Given the description of an element on the screen output the (x, y) to click on. 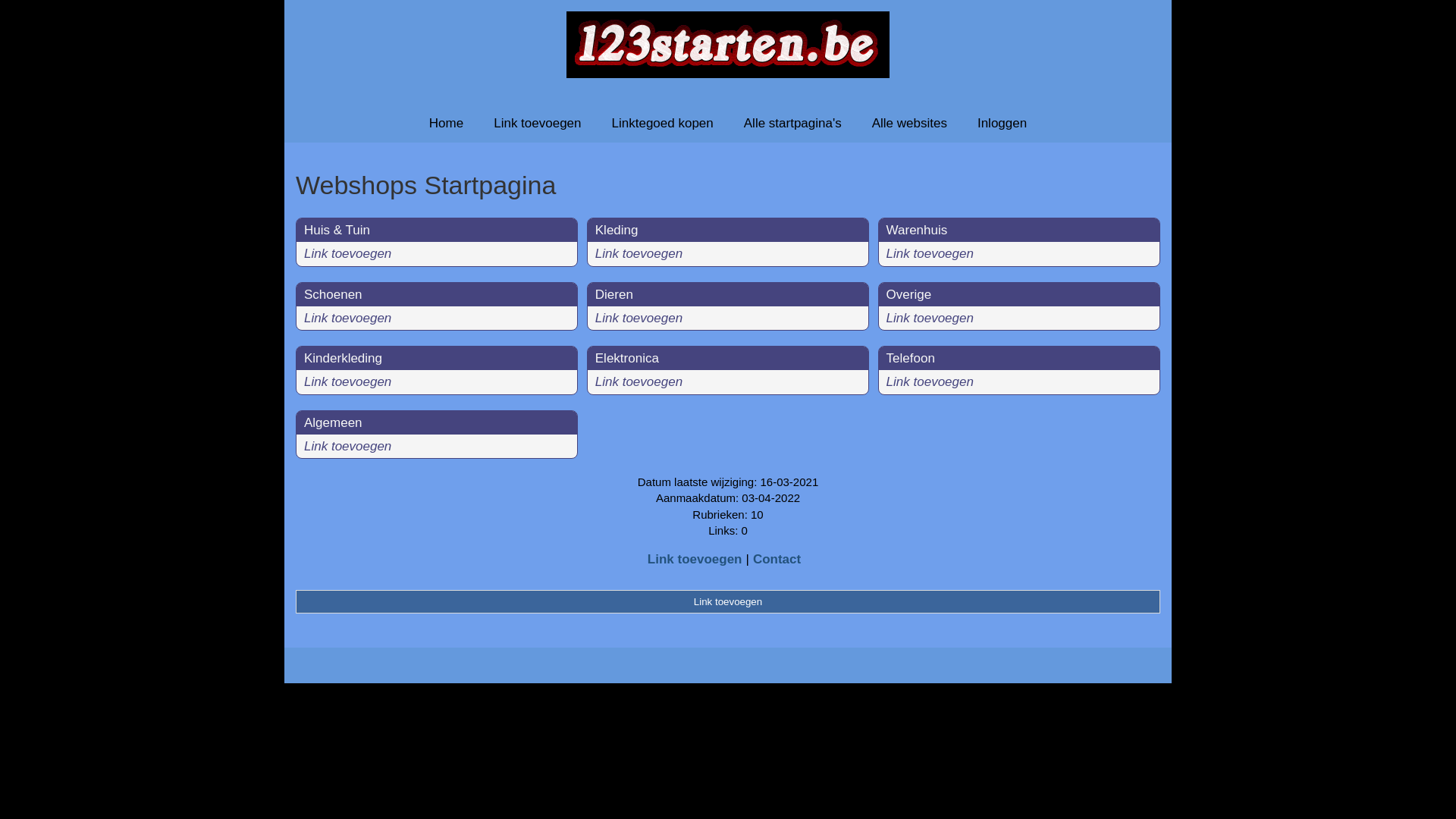
Link toevoegen Element type: text (347, 381)
Kinderkleding Element type: text (343, 358)
Alle websites Element type: text (909, 122)
Linktegoed kopen Element type: text (662, 122)
Kleding Element type: text (616, 229)
Link toevoegen Element type: text (638, 253)
Inloggen Element type: text (1001, 122)
Link toevoegen Element type: text (929, 253)
Link toevoegen Element type: text (727, 600)
Warenhuis Element type: text (916, 229)
Overige Element type: text (908, 294)
Link toevoegen Element type: text (638, 317)
Link toevoegen Element type: text (929, 381)
Telefoon Element type: text (910, 358)
Link toevoegen Element type: text (347, 317)
Link toevoegen Element type: text (694, 559)
Link toevoegen Element type: text (929, 317)
Link toevoegen Element type: text (347, 253)
Alle startpagina's Element type: text (792, 122)
Dieren Element type: text (614, 294)
Link toevoegen Element type: text (537, 122)
Algemeen Element type: text (333, 422)
Webshops Startpagina Element type: text (727, 185)
Elektronica Element type: text (626, 358)
Home Element type: text (446, 122)
Contact Element type: text (776, 559)
Schoenen Element type: text (333, 294)
Link toevoegen Element type: text (638, 381)
Huis & Tuin Element type: text (337, 229)
Link toevoegen Element type: text (347, 446)
